Given the description of an element on the screen output the (x, y) to click on. 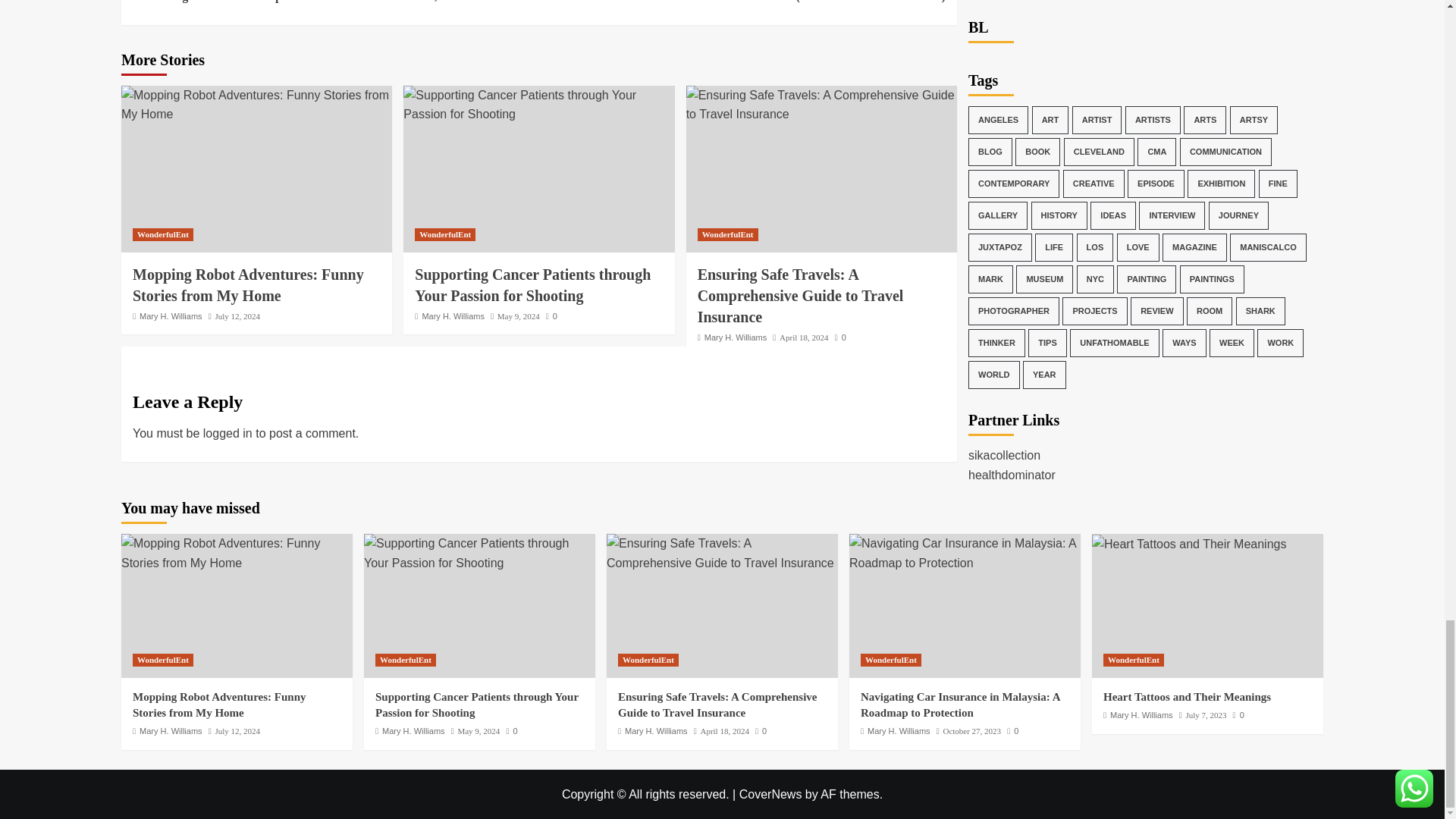
Mopping Robot Adventures: Funny Stories from My Home (248, 284)
WonderfulEnt (162, 234)
Mopping Robot Adventures: Funny Stories from My Home (236, 552)
Mopping Robot Adventures: Funny Stories from My Home (255, 104)
July 12, 2024 (237, 316)
Supporting Cancer Patients through Your Passion for Shooting (532, 284)
WonderfulEnt (445, 234)
Mary H. Williams (170, 316)
